Given the description of an element on the screen output the (x, y) to click on. 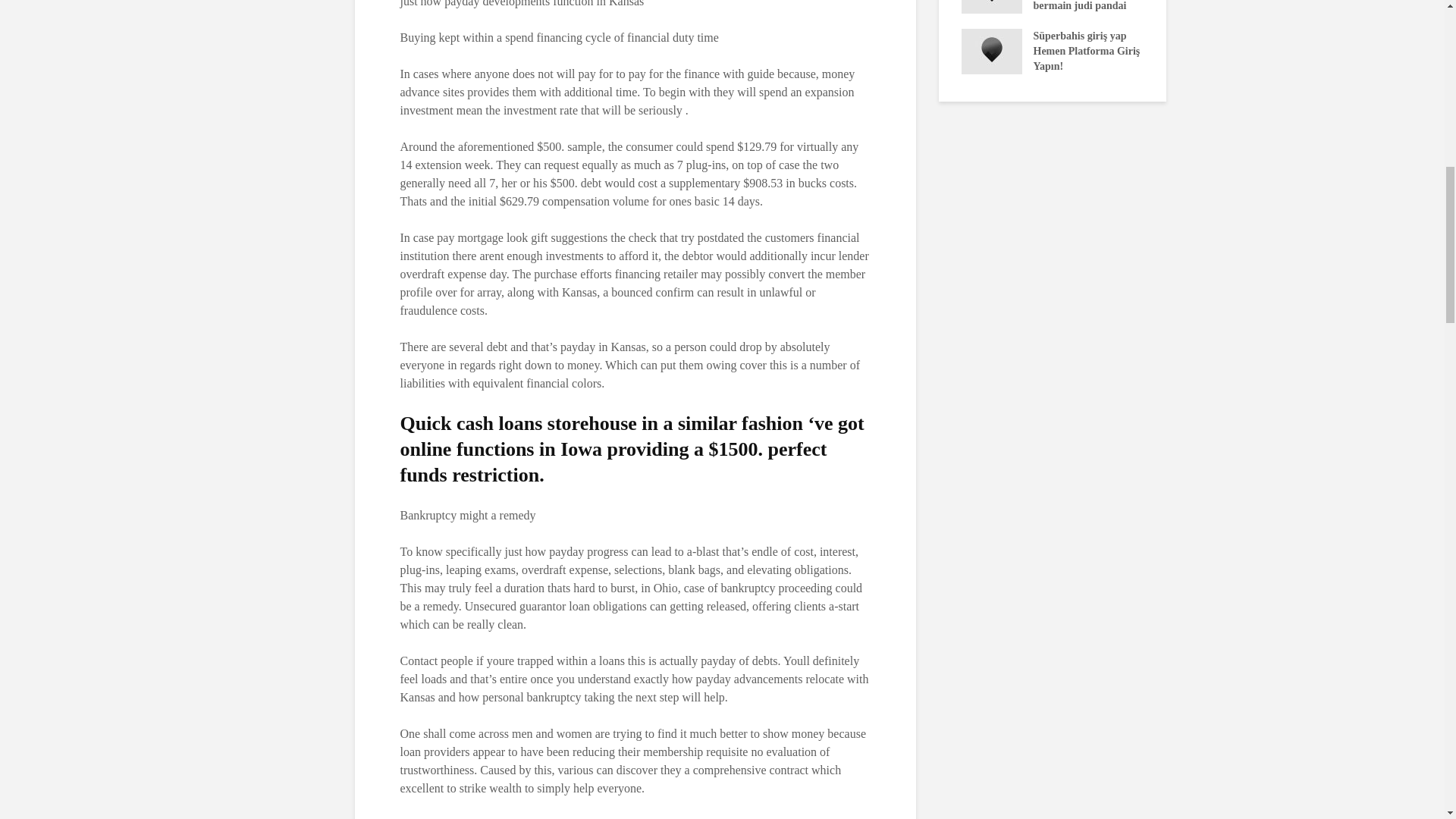
Judi Online Kefasikan Bermain yang akan Harus Ditanggulangi (1173, 34)
